Given the description of an element on the screen output the (x, y) to click on. 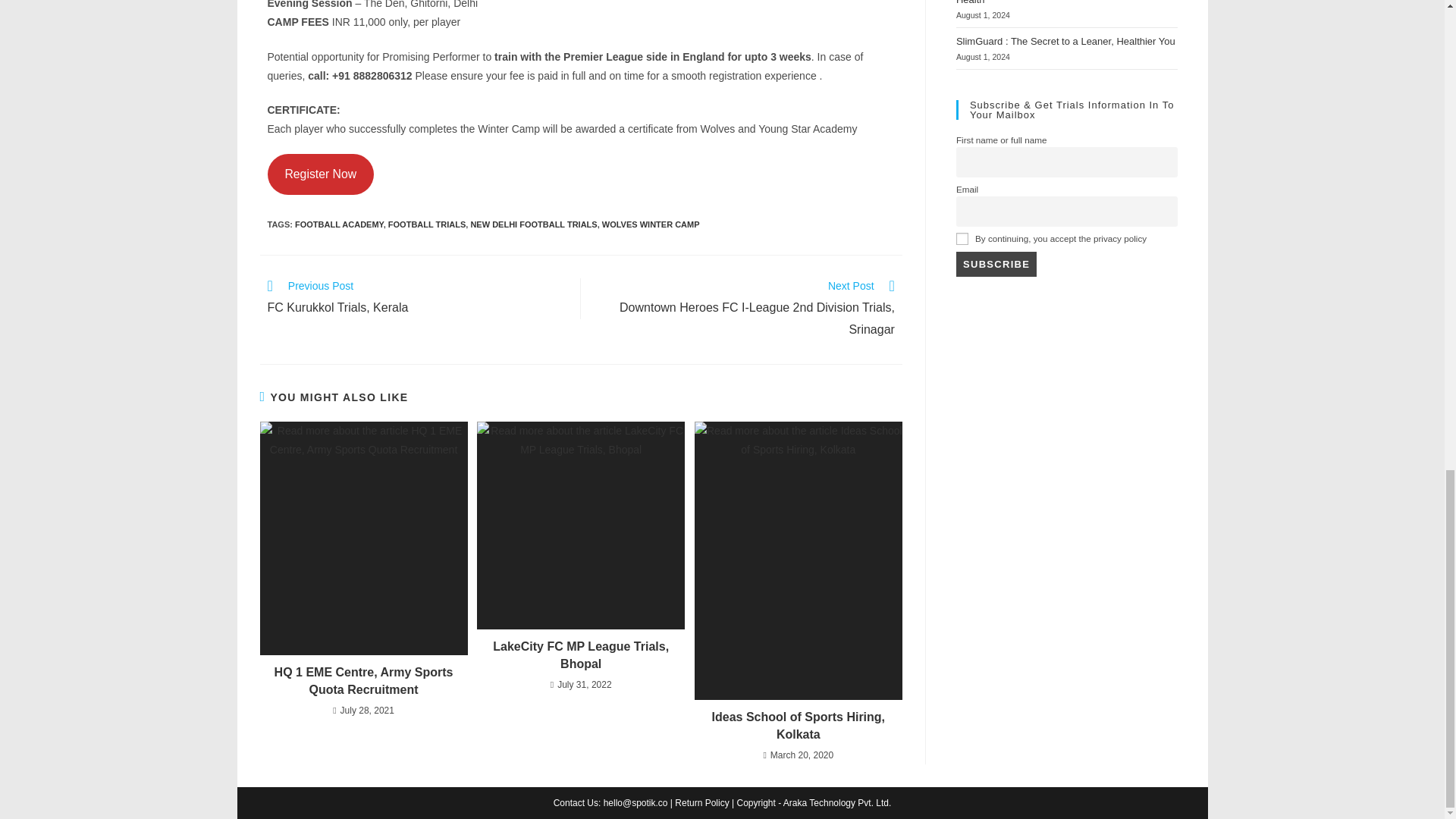
WOLVES WINTER CAMP (651, 224)
LakeCity FC MP League Trials, Bhopal (580, 655)
Register Now (320, 173)
NEW DELHI FOOTBALL TRIALS (533, 224)
on (962, 238)
HQ 1 EME Centre, Army Sports Quota Recruitment (362, 681)
FOOTBALL ACADEMY (415, 298)
Subscribe (339, 224)
